Given the description of an element on the screen output the (x, y) to click on. 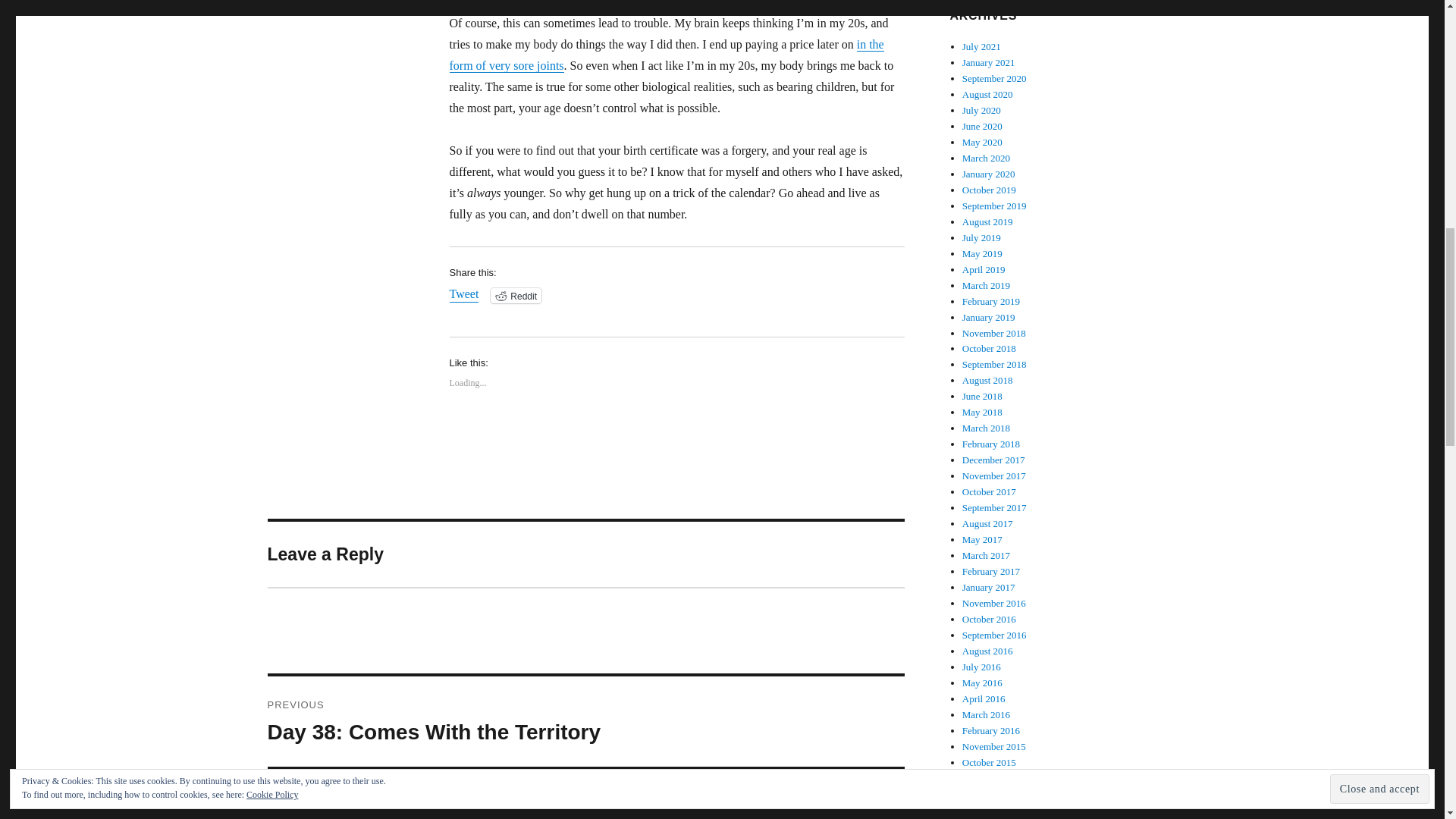
April 2019 (585, 794)
March 2020 (984, 269)
Comment Form (986, 157)
February 2019 (988, 61)
June 2020 (991, 301)
July 2020 (982, 125)
in the form of very sore joints (981, 110)
